Given the description of an element on the screen output the (x, y) to click on. 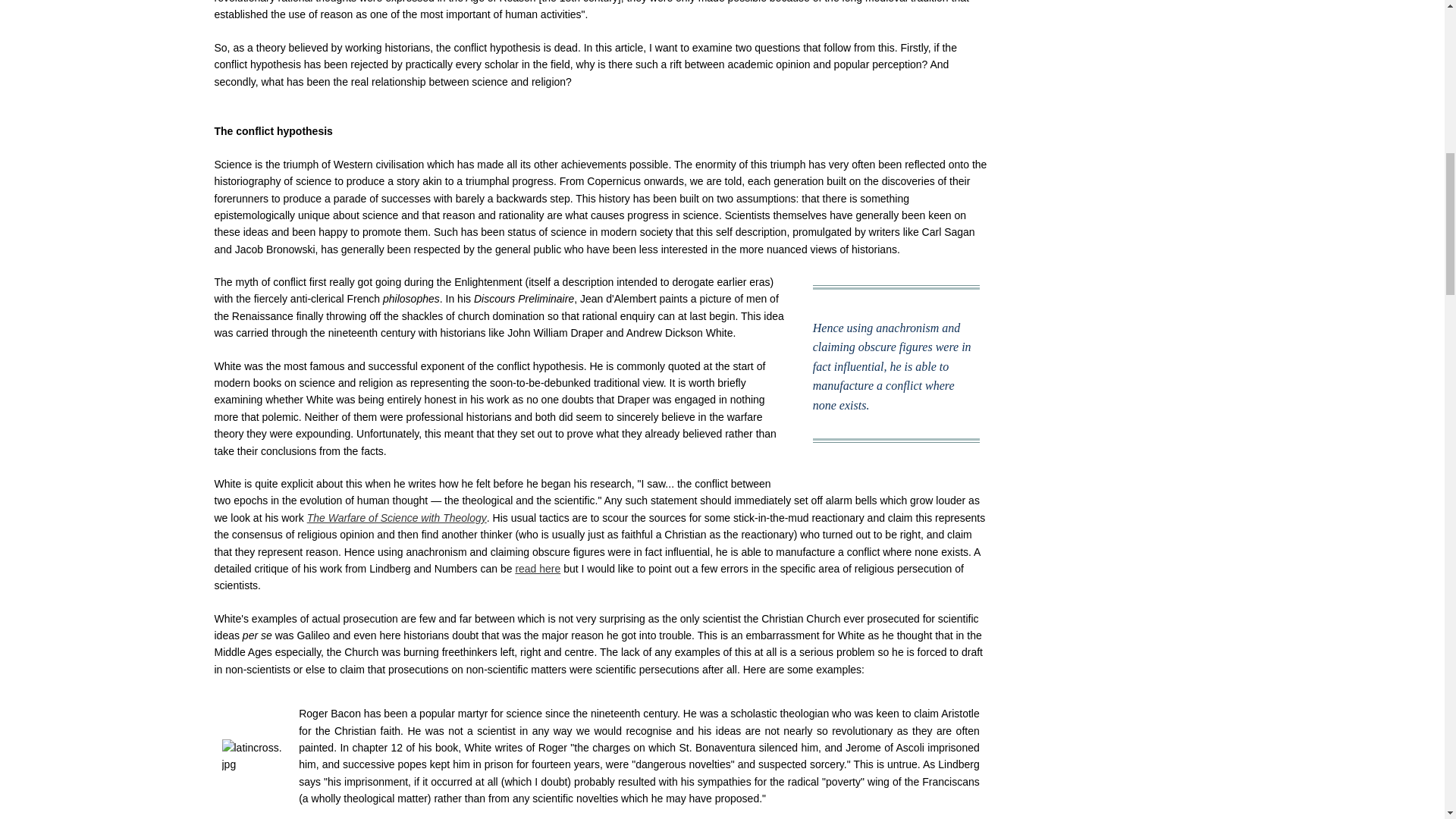
The Warfare of Science with Theology (396, 517)
read here (537, 568)
